Given the description of an element on the screen output the (x, y) to click on. 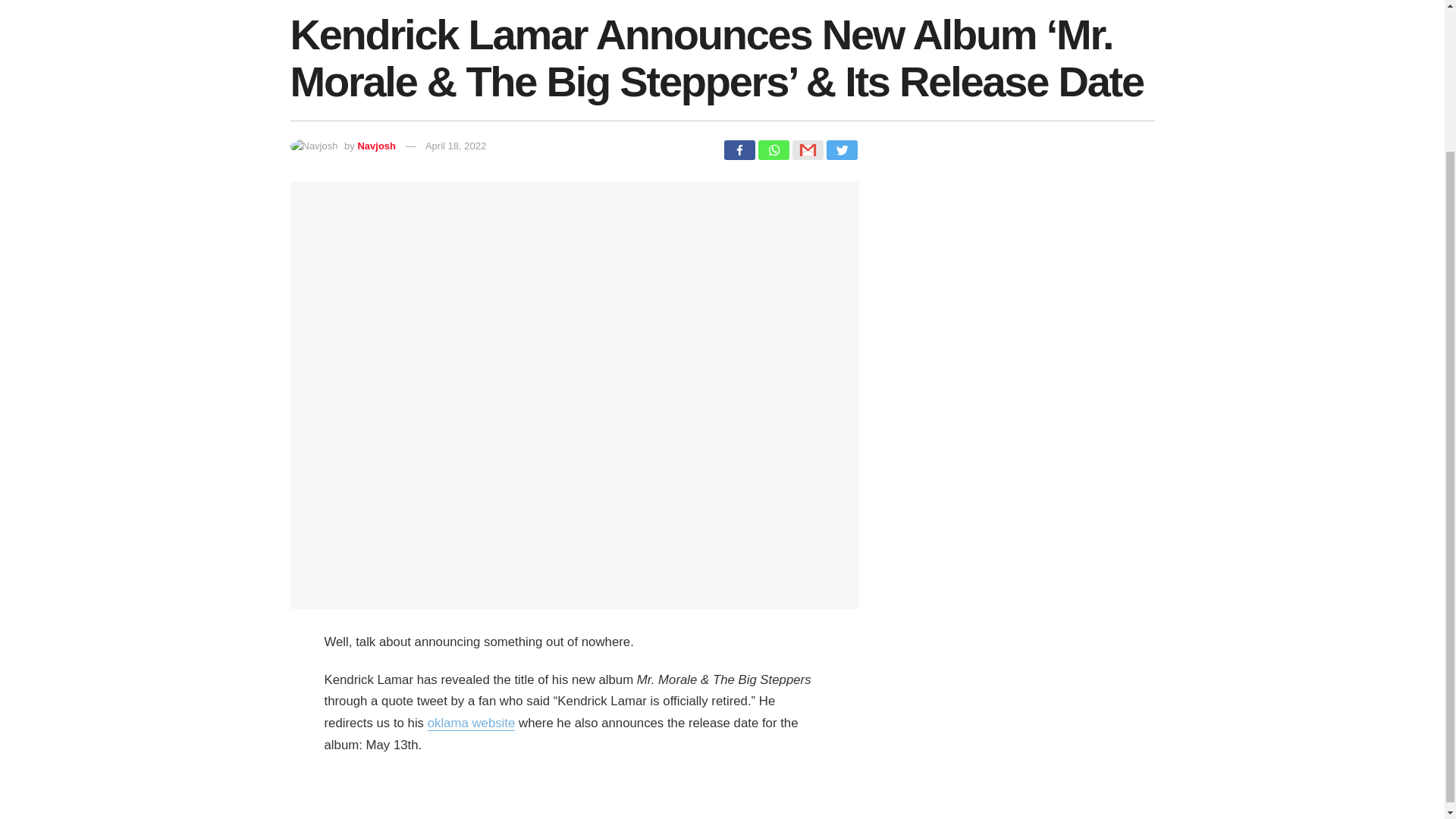
Whatsapp (773, 149)
Navjosh (376, 145)
Twitter (842, 149)
April 18, 2022 (455, 145)
Google Gmail (807, 149)
Facebook (738, 149)
